Given the description of an element on the screen output the (x, y) to click on. 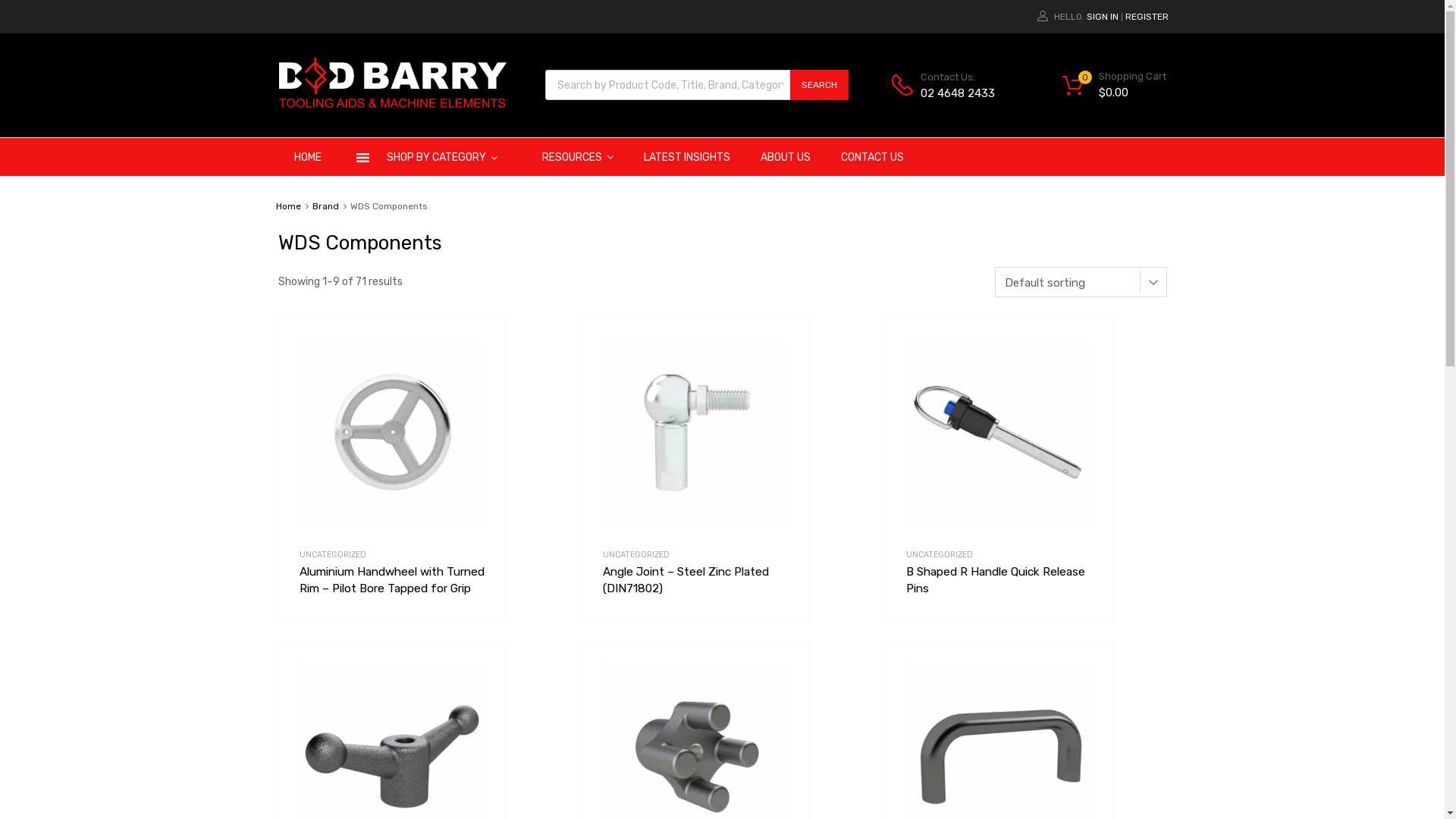
Brand Element type: text (325, 205)
RESOURCES Element type: text (576, 156)
HOME Element type: text (307, 156)
REGISTER Element type: text (1146, 16)
UNCATEGORIZED Element type: text (331, 554)
Register Element type: text (795, 469)
SHOP BY CATEGORY Element type: text (431, 156)
02 4648 2433 Element type: text (957, 93)
D&D Barry Element type: hover (392, 103)
UNCATEGORIZED Element type: text (938, 554)
SIGN IN Element type: text (1101, 16)
Login Element type: text (799, 432)
B Shaped R Handle Quick Release Pins Element type: text (997, 587)
CONTACT US Element type: text (871, 156)
UNCATEGORIZED Element type: text (635, 554)
ABOUT US Element type: text (784, 156)
Home Element type: text (288, 205)
SEARCH Element type: text (819, 84)
LATEST INSIGHTS Element type: text (685, 156)
